Given the description of an element on the screen output the (x, y) to click on. 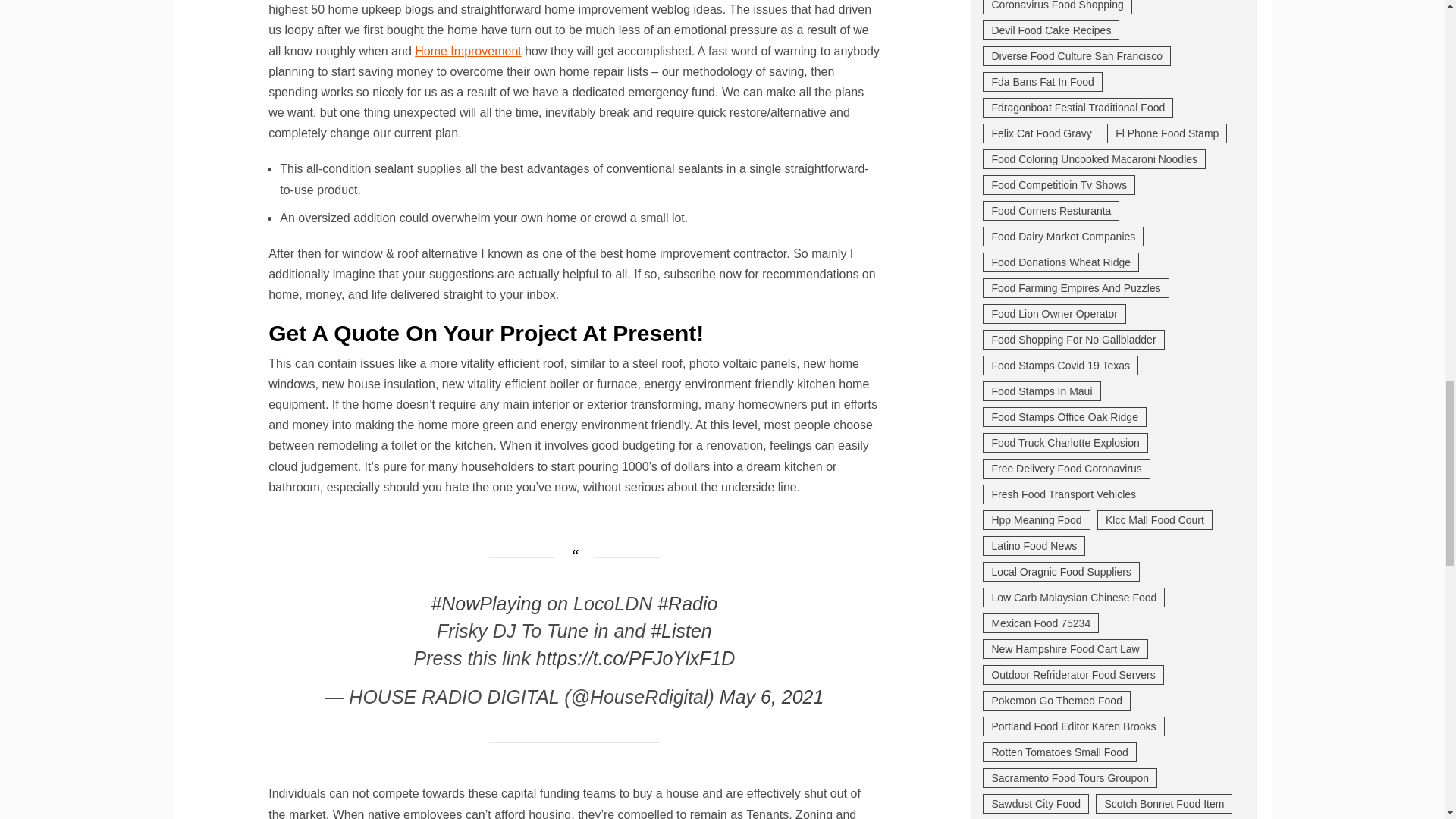
Home Improvement (467, 51)
